Given the description of an element on the screen output the (x, y) to click on. 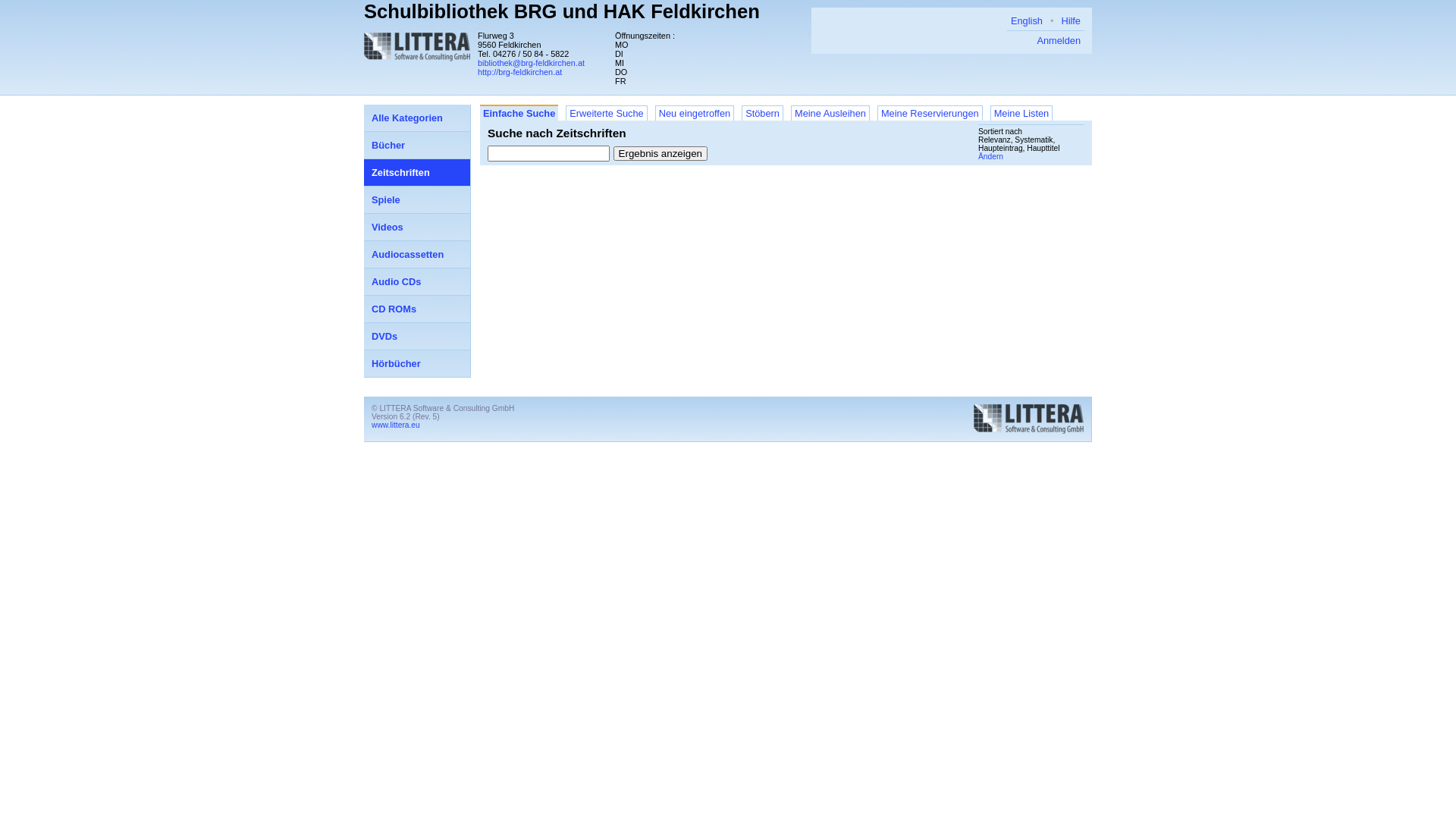
Zeitschriften Element type: text (417, 172)
Ergebnis anzeigen Element type: text (660, 153)
CD ROMs Element type: text (417, 309)
Anmelden Element type: text (1058, 40)
Audiocassetten Element type: text (417, 254)
Meine Reservierungen Element type: text (929, 112)
Einfache Suche Element type: text (519, 112)
Alle Kategorien Element type: text (417, 117)
Hilfe Element type: text (1070, 21)
Meine Listen Element type: text (1021, 112)
Videos Element type: text (417, 227)
www.littera.eu Element type: text (395, 424)
Schulbibliothek BRG und HAK Feldkirchen Element type: text (561, 10)
Spiele Element type: text (417, 199)
English Element type: text (1026, 21)
Erweiterte Suche Element type: text (605, 112)
Audio CDs Element type: text (417, 281)
DVDs Element type: text (417, 336)
Meine Ausleihen Element type: text (829, 112)
bibliothek@brg-feldkirchen.at Element type: text (530, 62)
Neu eingetroffen Element type: text (694, 112)
http://brg-feldkirchen.at Element type: text (519, 71)
